Given the description of an element on the screen output the (x, y) to click on. 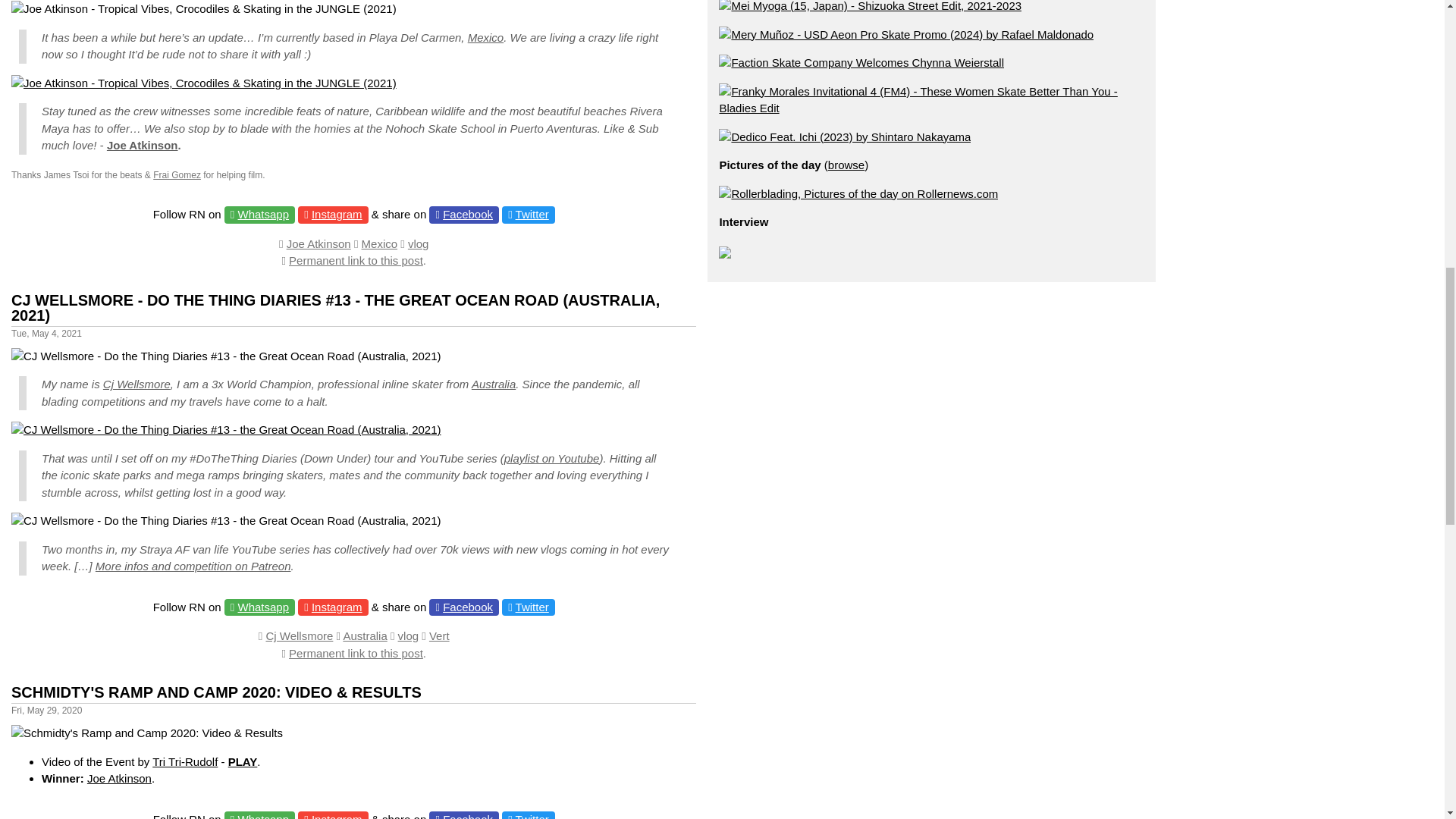
Facebook (467, 214)
Rollernews Instagram (336, 214)
Mexico (485, 37)
Rollernews on Whatsapp (263, 214)
Twitter (531, 214)
Joe Atkinson (141, 144)
